Given the description of an element on the screen output the (x, y) to click on. 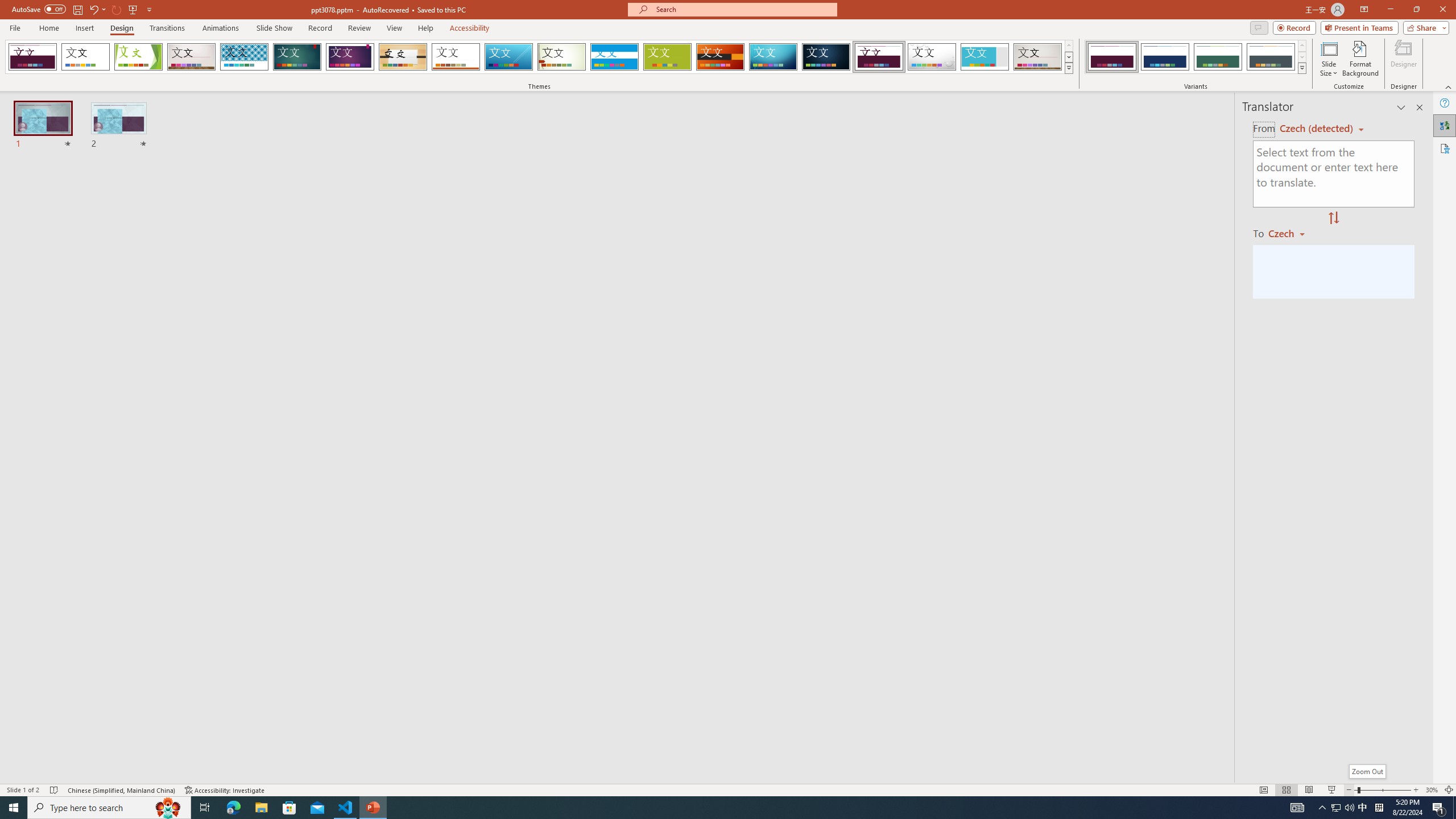
Wisp (561, 56)
Frame (984, 56)
AutomationID: ThemeVariantsGallery (1195, 56)
Ion Boardroom (350, 56)
Zoom 30% (1431, 790)
Integral (244, 56)
